Given the description of an element on the screen output the (x, y) to click on. 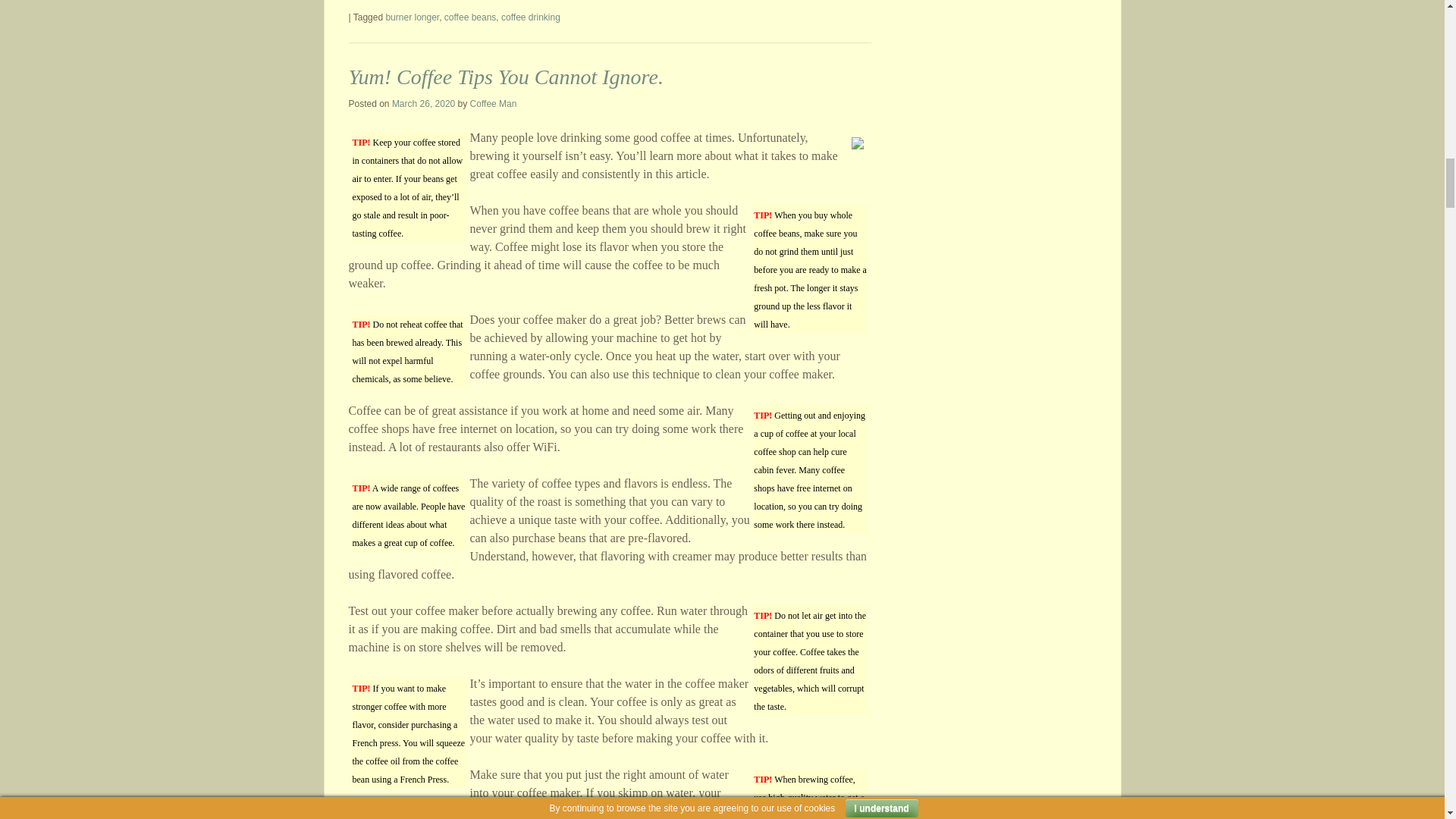
11:22 pm (422, 103)
Permalink (506, 76)
View all posts by Coffee Man (493, 103)
